Given the description of an element on the screen output the (x, y) to click on. 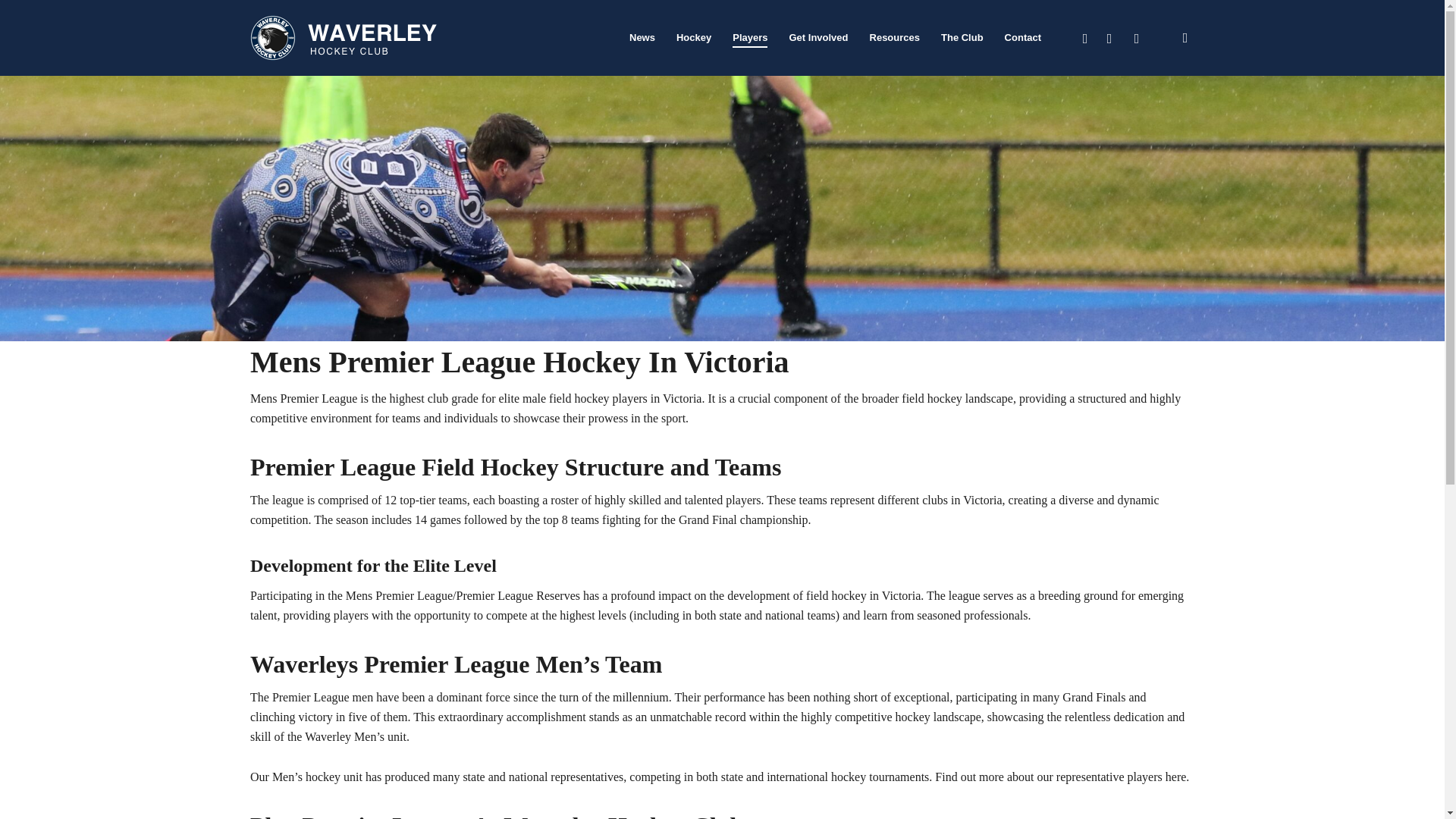
Resources (894, 38)
Players (749, 38)
News (641, 38)
Hockey (694, 38)
Get Involved (818, 38)
